Given the description of an element on the screen output the (x, y) to click on. 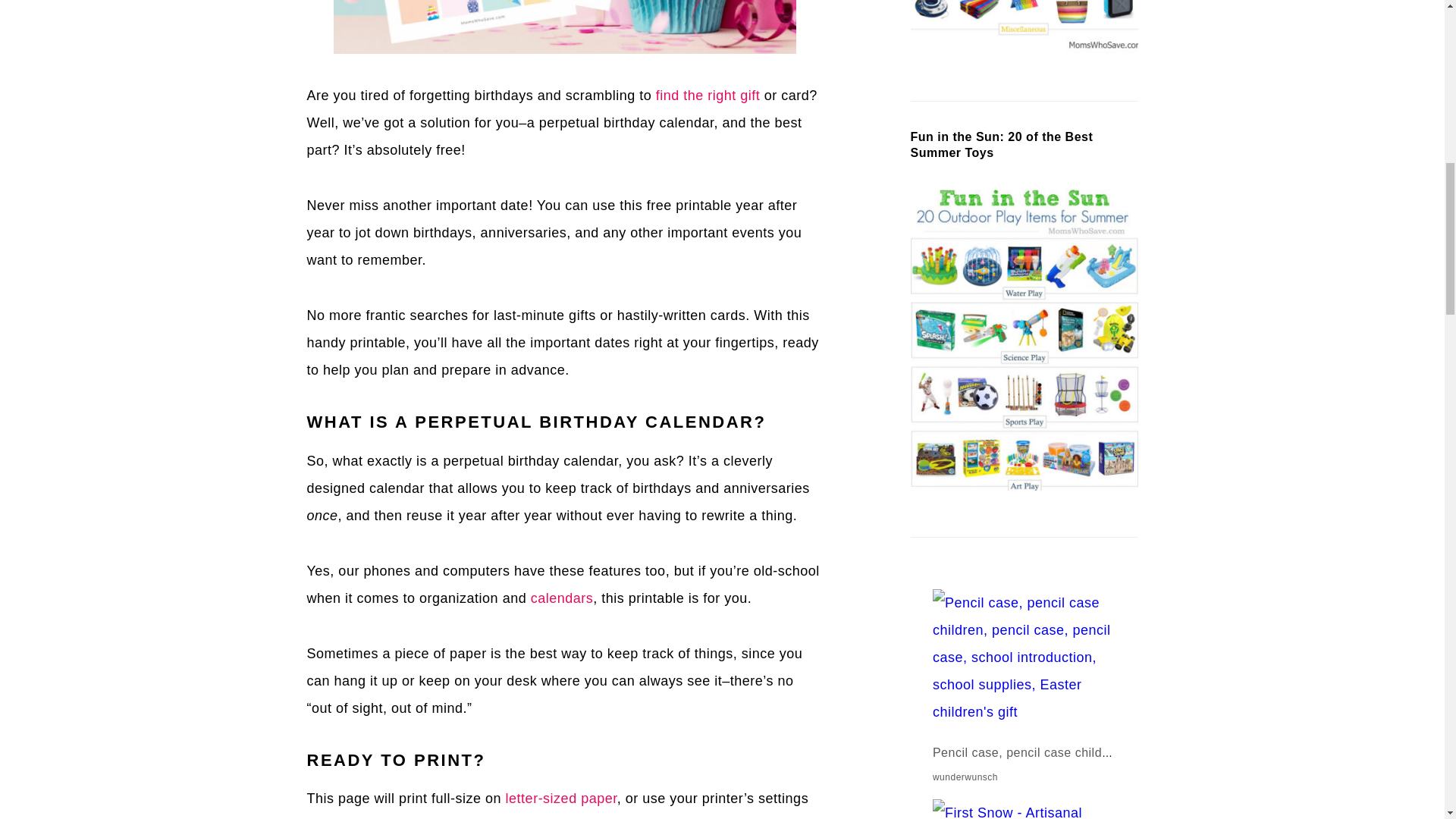
Perpetual Birthday Calendar Page Printable (564, 27)
